Given the description of an element on the screen output the (x, y) to click on. 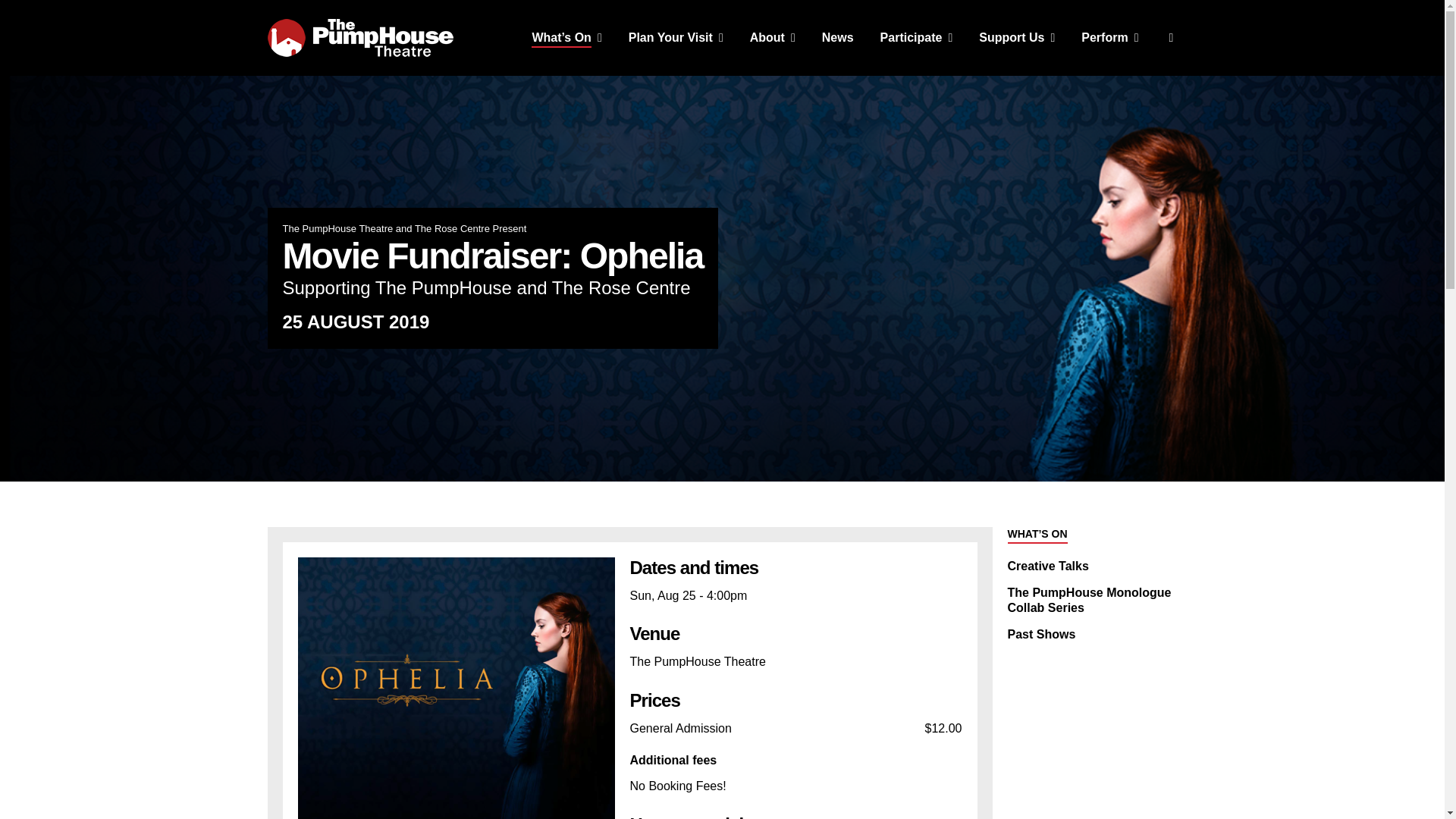
Support Us (1016, 37)
Participate (916, 37)
Plan Your Visit (675, 37)
About (771, 37)
